Given the description of an element on the screen output the (x, y) to click on. 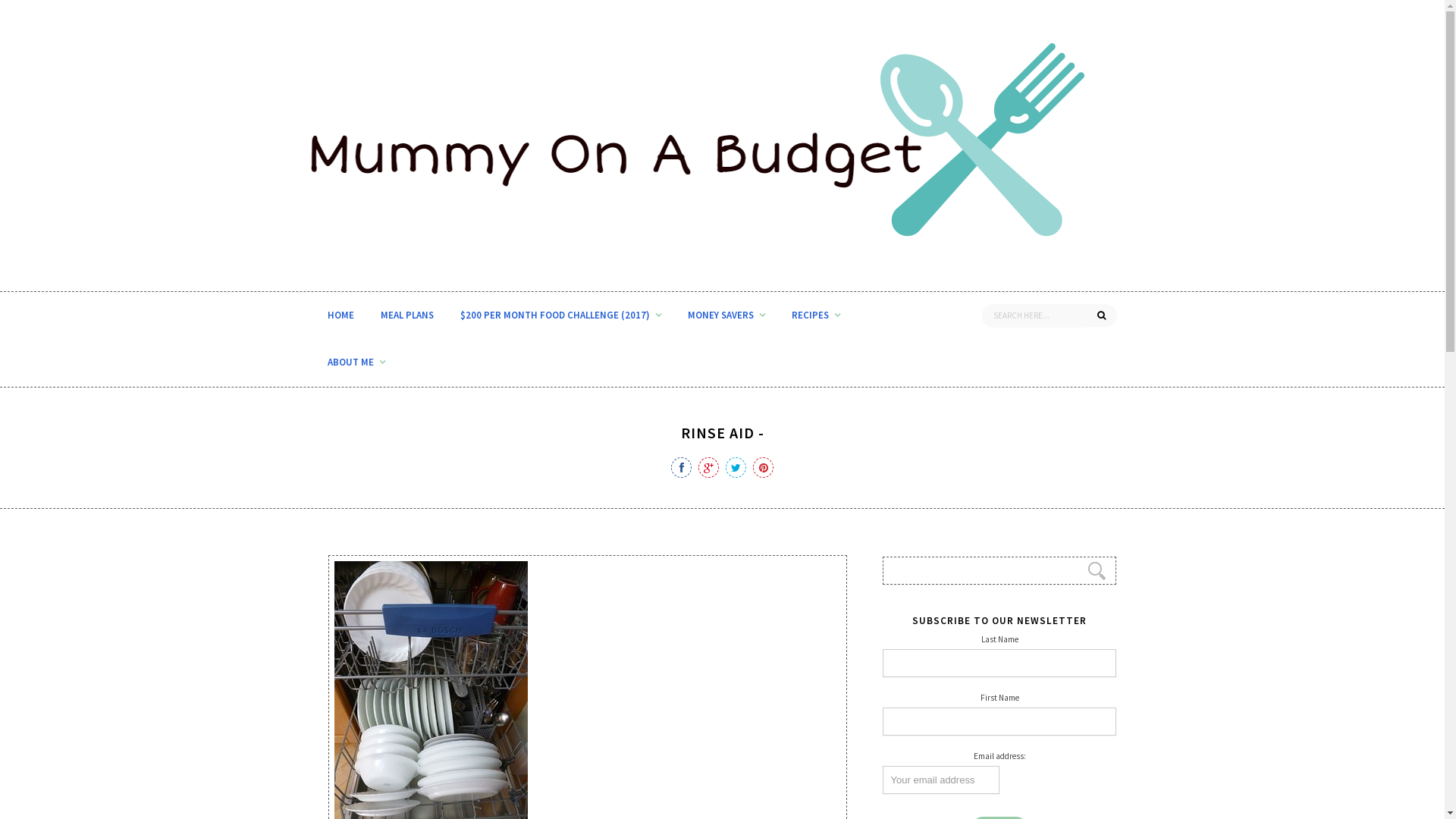
$200 PER MONTH FOOD CHALLENGE (2017) Element type: text (560, 315)
MEAL PLANS Element type: text (406, 315)
RECIPES Element type: text (814, 315)
Search Element type: text (28, 13)
ABOUT ME Element type: text (355, 362)
HOME Element type: text (339, 315)
MONEY SAVERS Element type: text (726, 315)
